Given the description of an element on the screen output the (x, y) to click on. 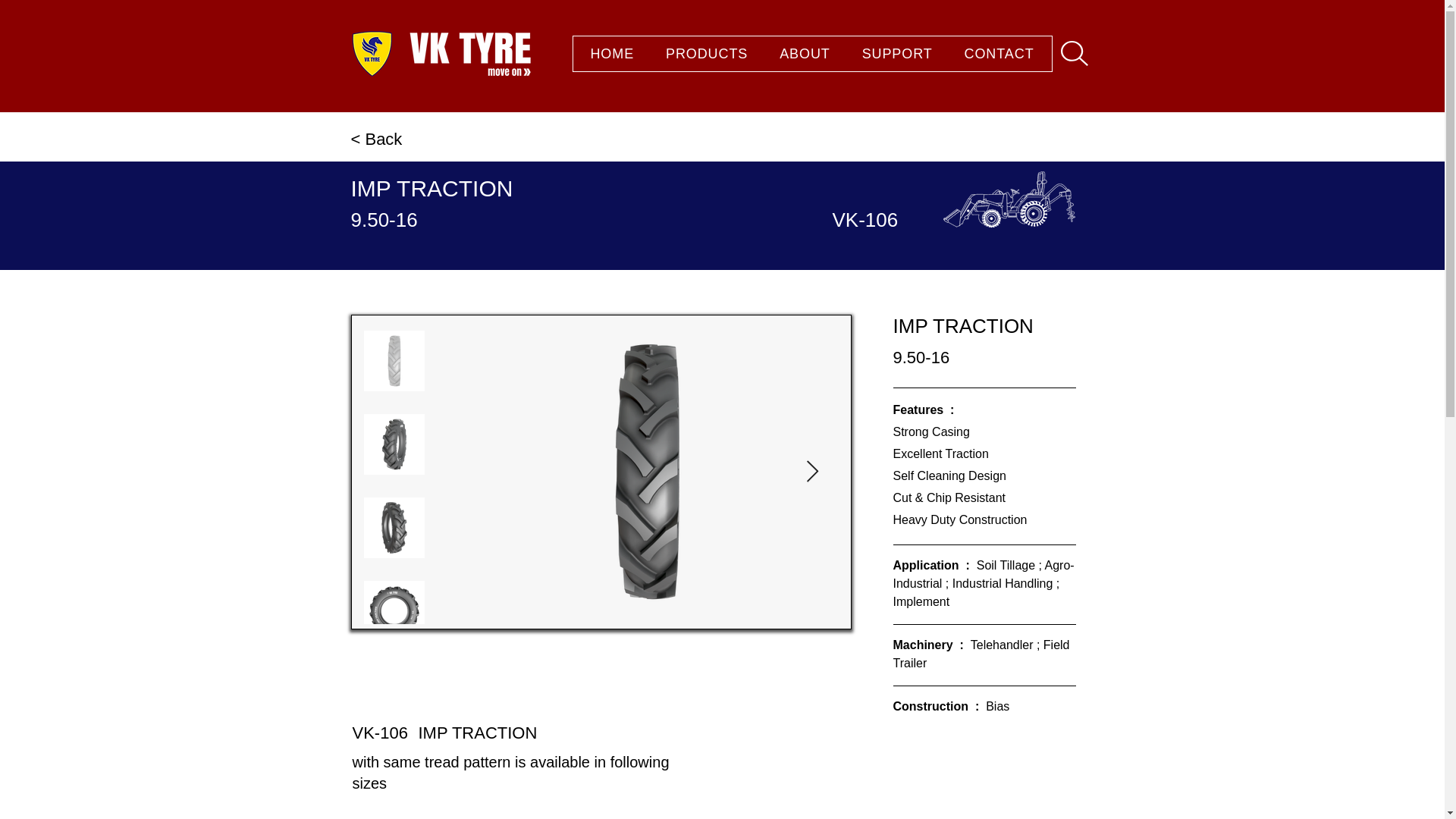
CONTACT (999, 53)
LOGO-PNG.png (371, 53)
HOME (612, 53)
vkt.png (811, 54)
